Given the description of an element on the screen output the (x, y) to click on. 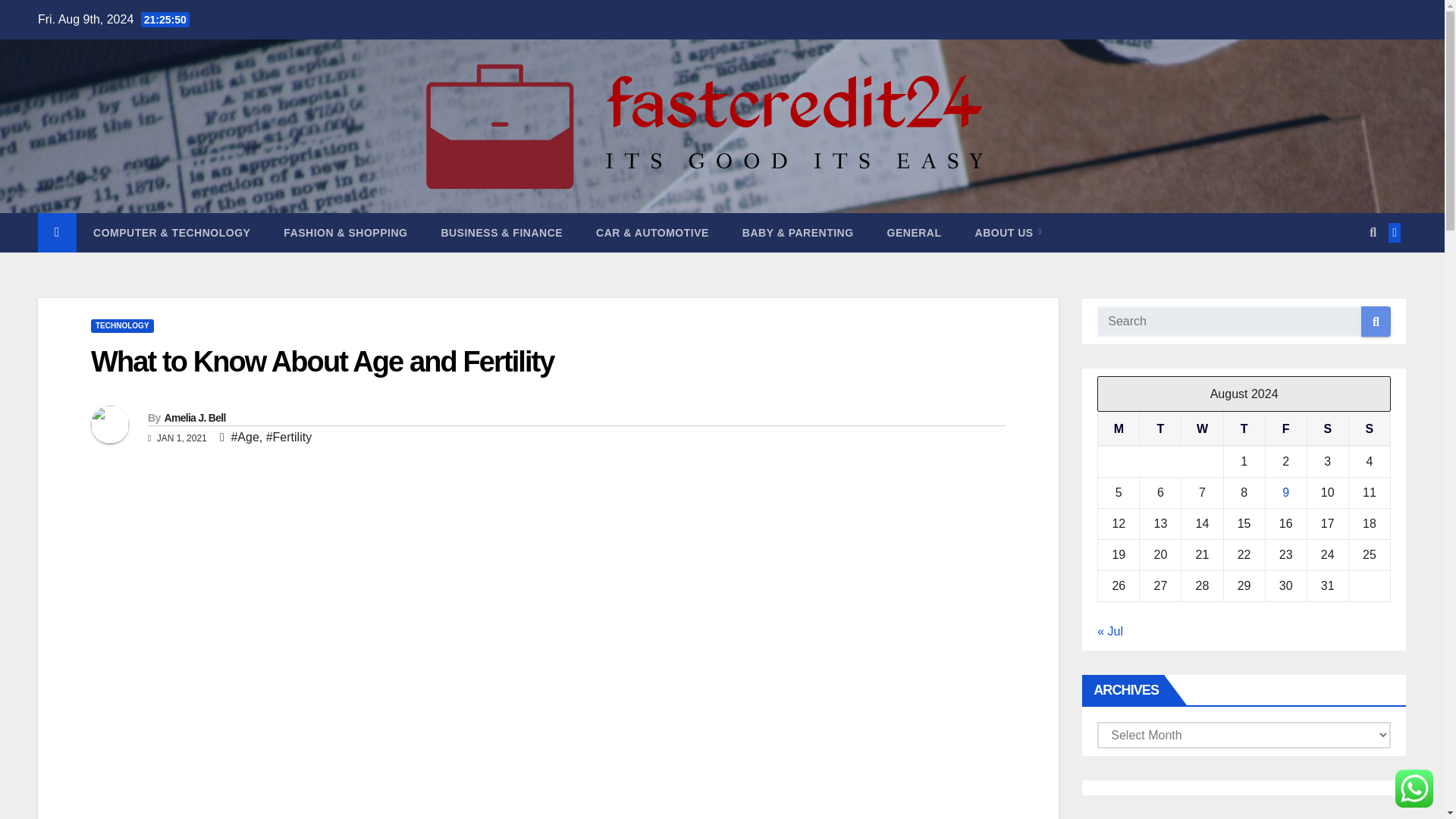
Amelia J. Bell (194, 417)
TECHNOLOGY (122, 325)
general (914, 232)
What to Know About Age and Fertility (322, 361)
ABOUT US (1008, 232)
Permalink to: What to Know About Age and Fertility (322, 361)
About Us (1008, 232)
GENERAL (914, 232)
